Given the description of an element on the screen output the (x, y) to click on. 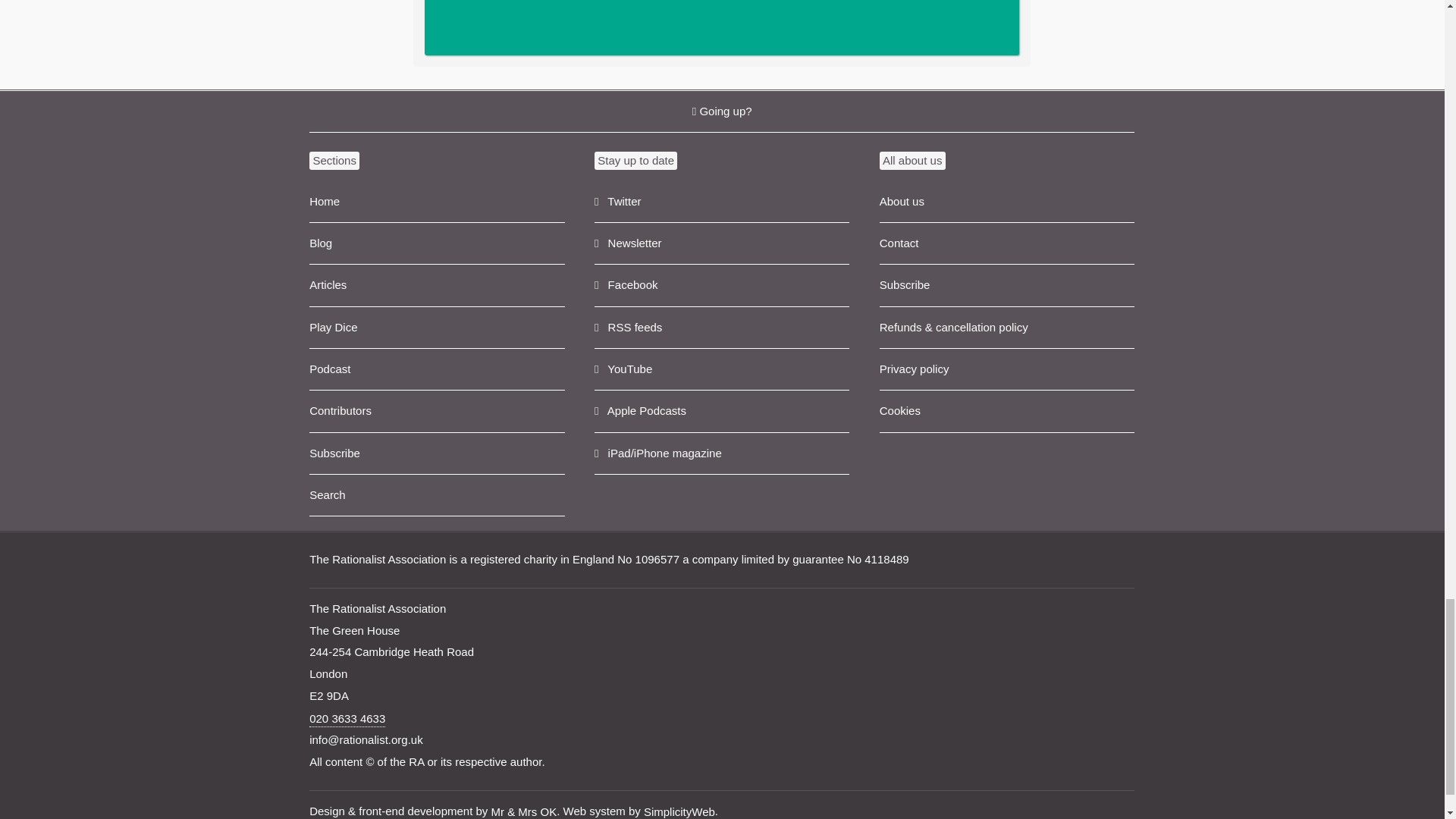
Going up? (721, 111)
About us (1006, 201)
Blog (436, 243)
Search (436, 495)
If you value reason find out how to join us today (722, 27)
Podcast (436, 369)
Articles (436, 285)
Home (436, 201)
Subscribe (436, 454)
Newsletter (721, 243)
Twitter (721, 201)
RSS feeds (721, 327)
Apple Podcasts (721, 411)
Play Dice (436, 327)
Contact (1006, 243)
